Given the description of an element on the screen output the (x, y) to click on. 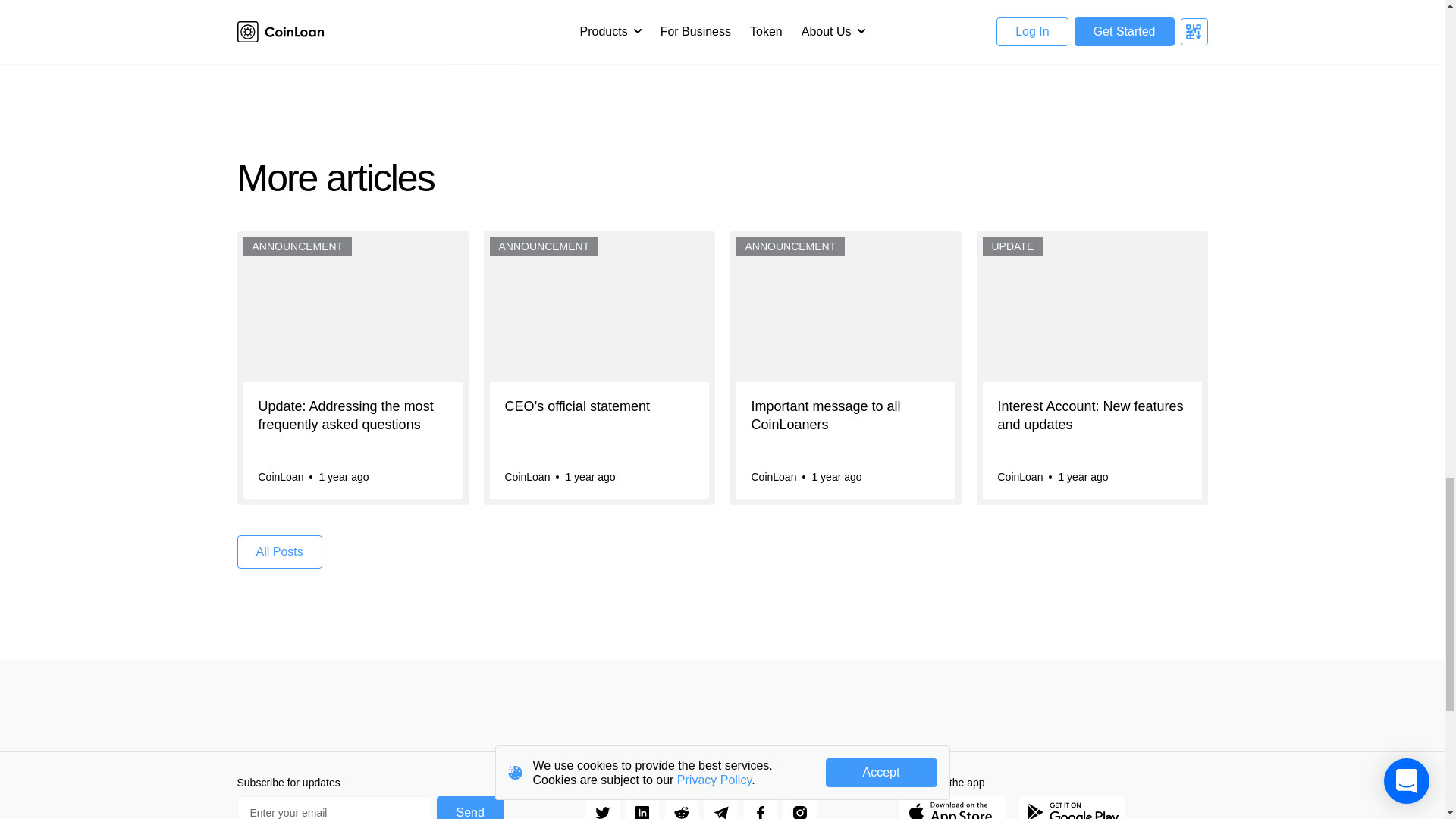
Update: Addressing the most frequently asked questions (351, 424)
CoinLoan (279, 476)
Product (481, 55)
PRODUCT (481, 55)
